Given the description of an element on the screen output the (x, y) to click on. 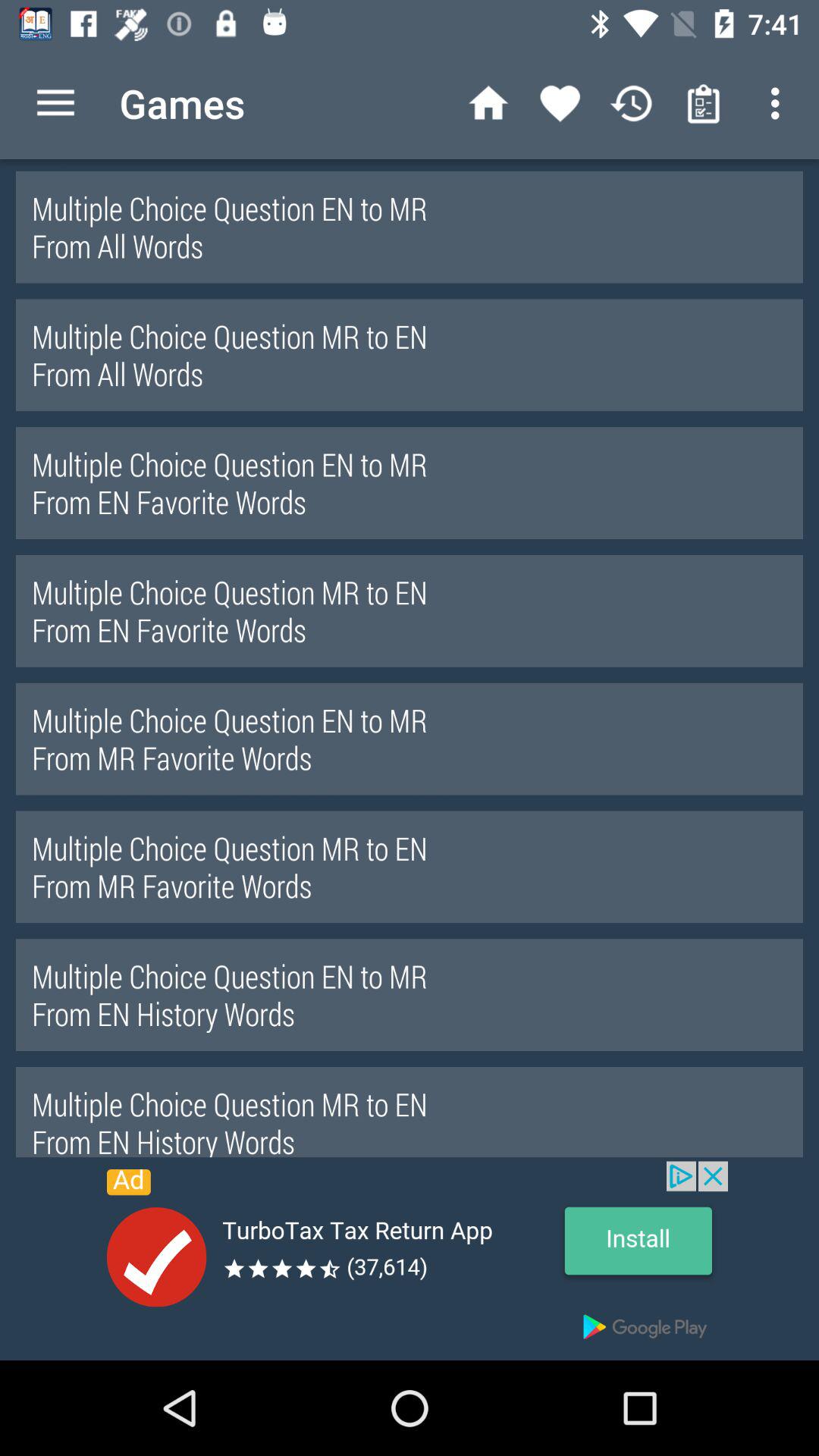
interact with advertisement (409, 1260)
